Given the description of an element on the screen output the (x, y) to click on. 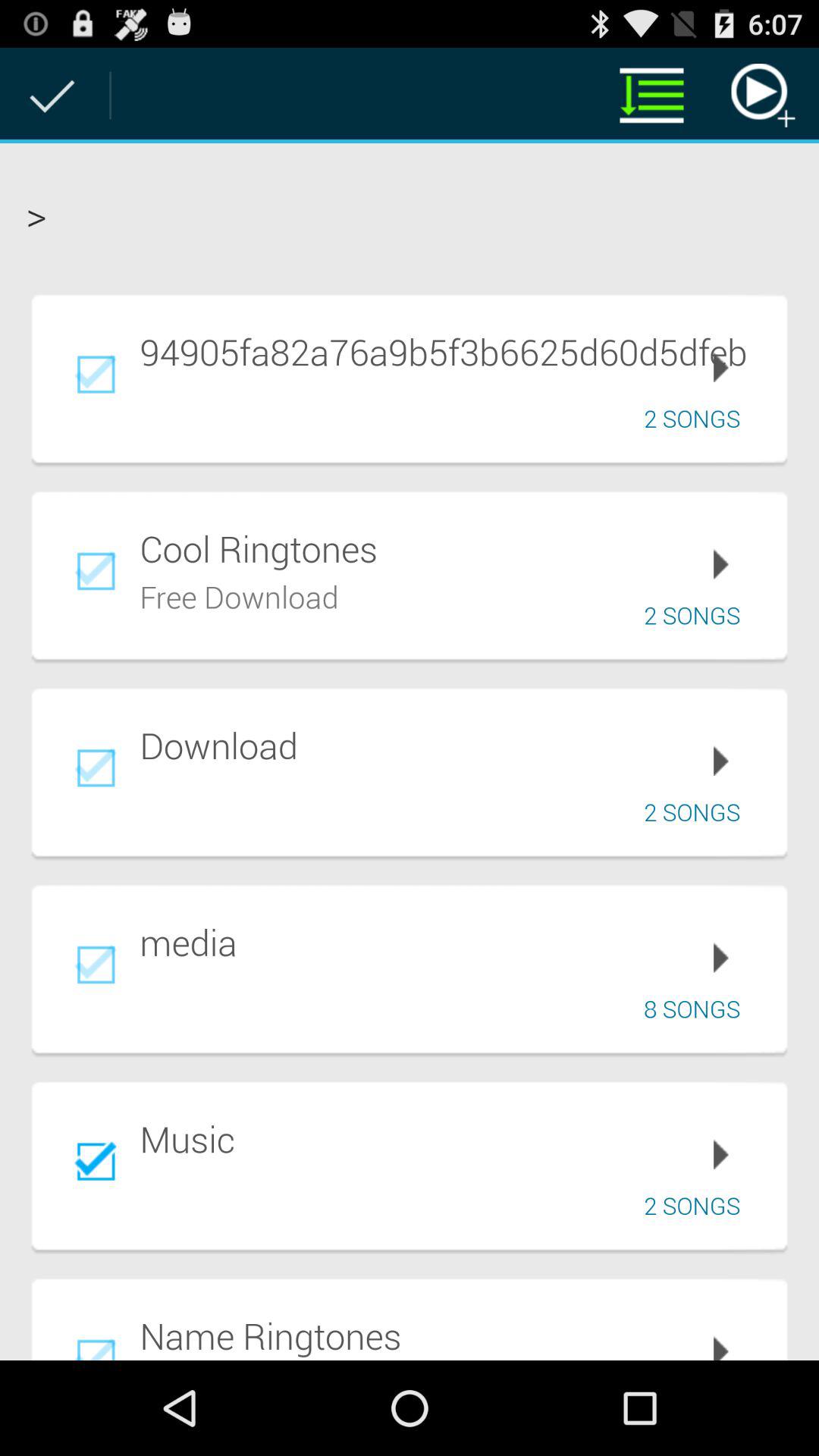
turn off the item above the > item (763, 95)
